Given the description of an element on the screen output the (x, y) to click on. 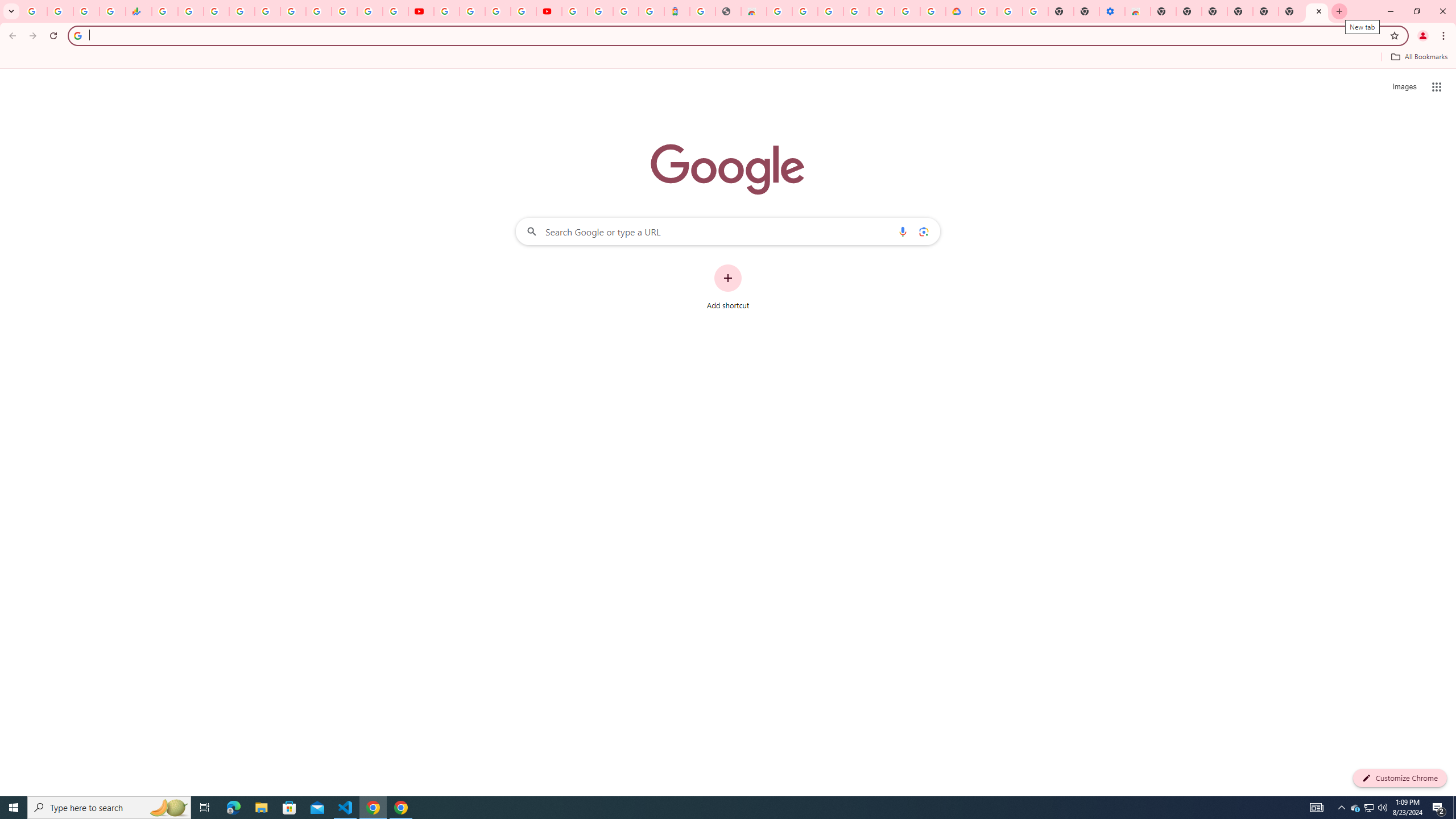
Sign in - Google Accounts (574, 11)
Privacy Checkup (395, 11)
Search Google or type a URL (727, 230)
Atour Hotel - Google hotels (676, 11)
